Given the description of an element on the screen output the (x, y) to click on. 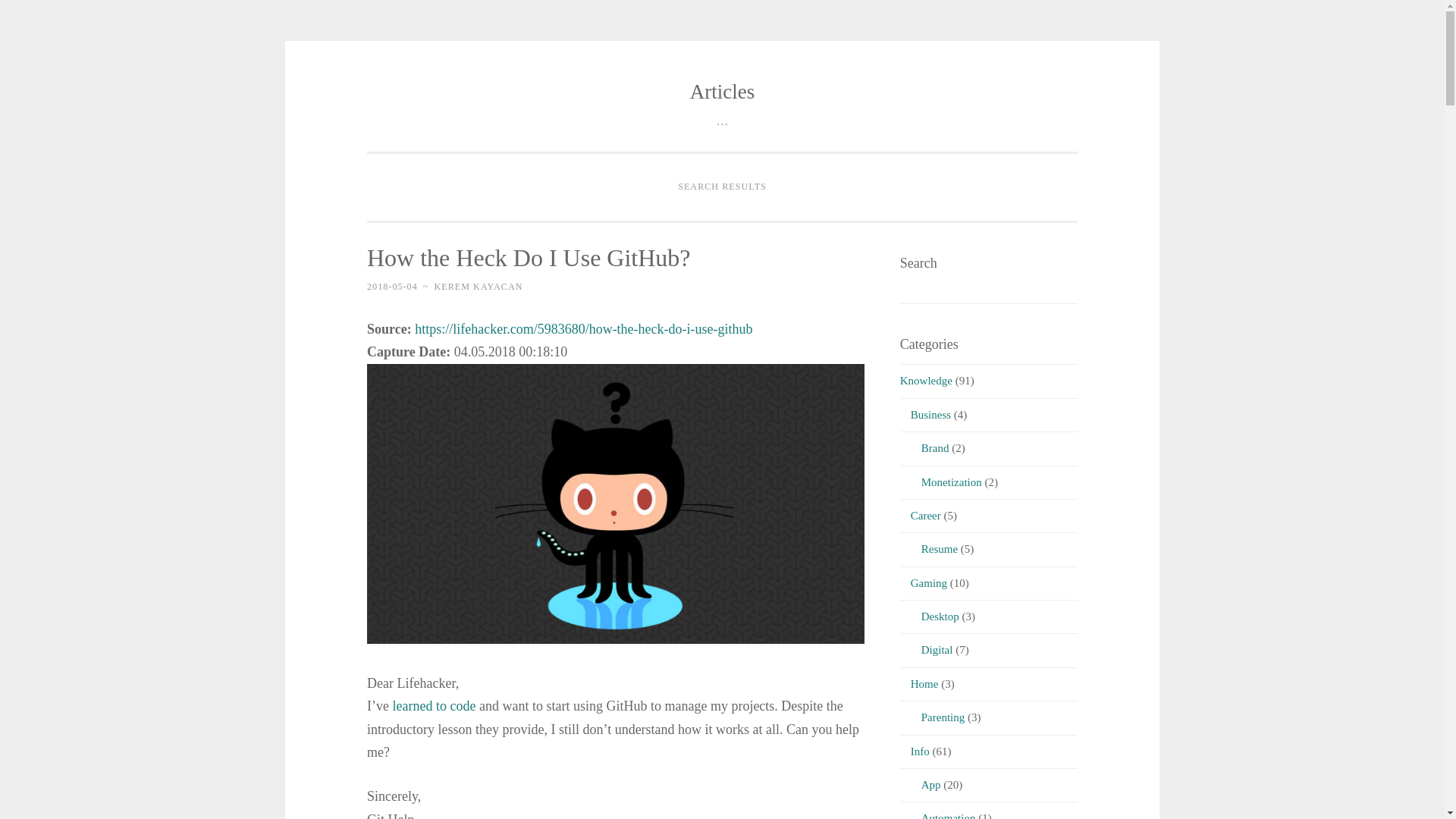
Parenting (932, 717)
Business (924, 414)
Home (919, 684)
Articles (722, 91)
learned to code (433, 705)
2018-05-04 (391, 286)
Career (919, 515)
App (919, 784)
Brand (924, 448)
SEARCH RESULTS (722, 186)
Info (914, 751)
Monetization (940, 481)
Knowledge (925, 380)
KEREM KAYACAN (477, 286)
